Given the description of an element on the screen output the (x, y) to click on. 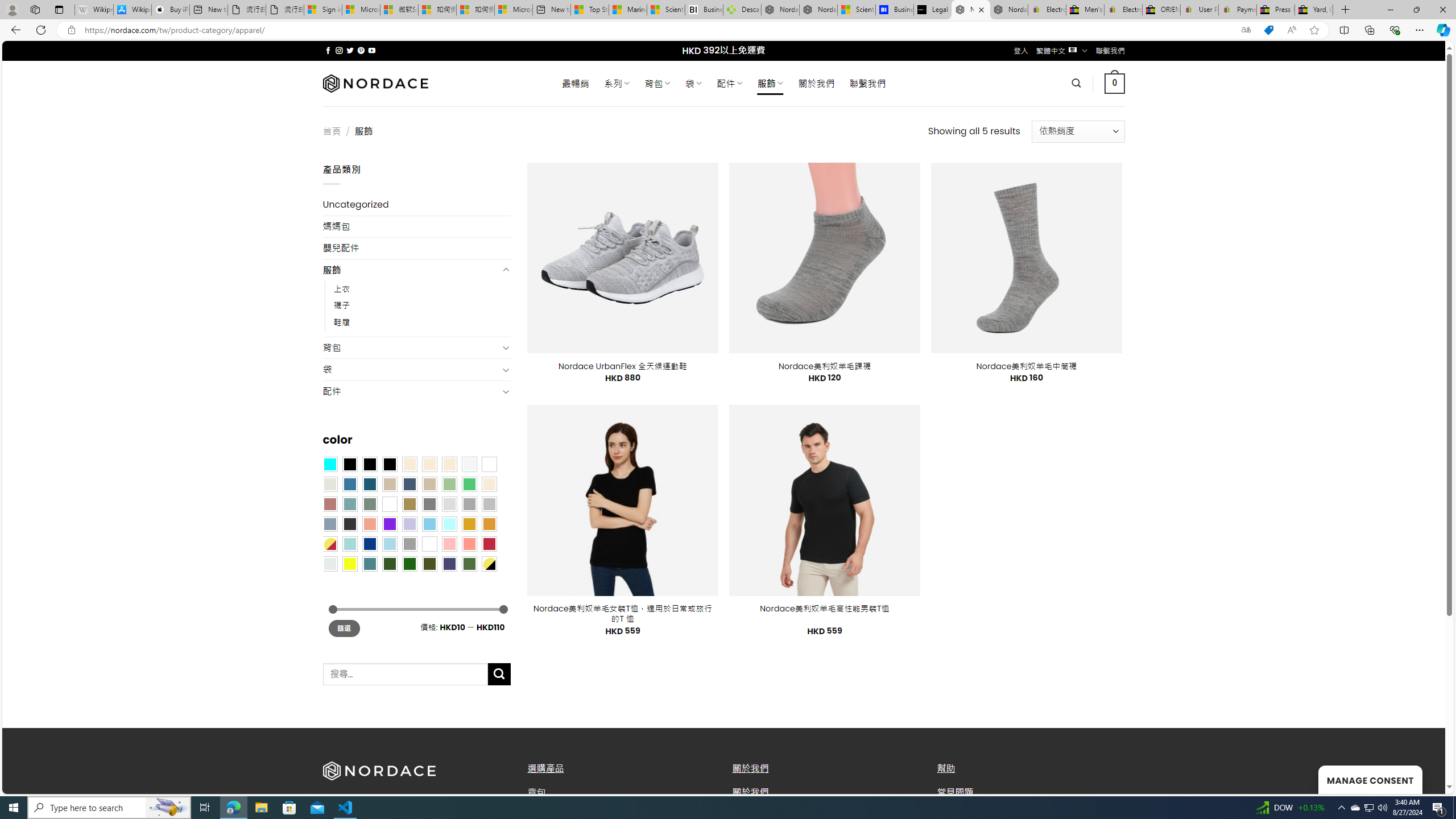
Payments Terms of Use | eBay.com (1237, 9)
Marine life - MSN (628, 9)
